Given the description of an element on the screen output the (x, y) to click on. 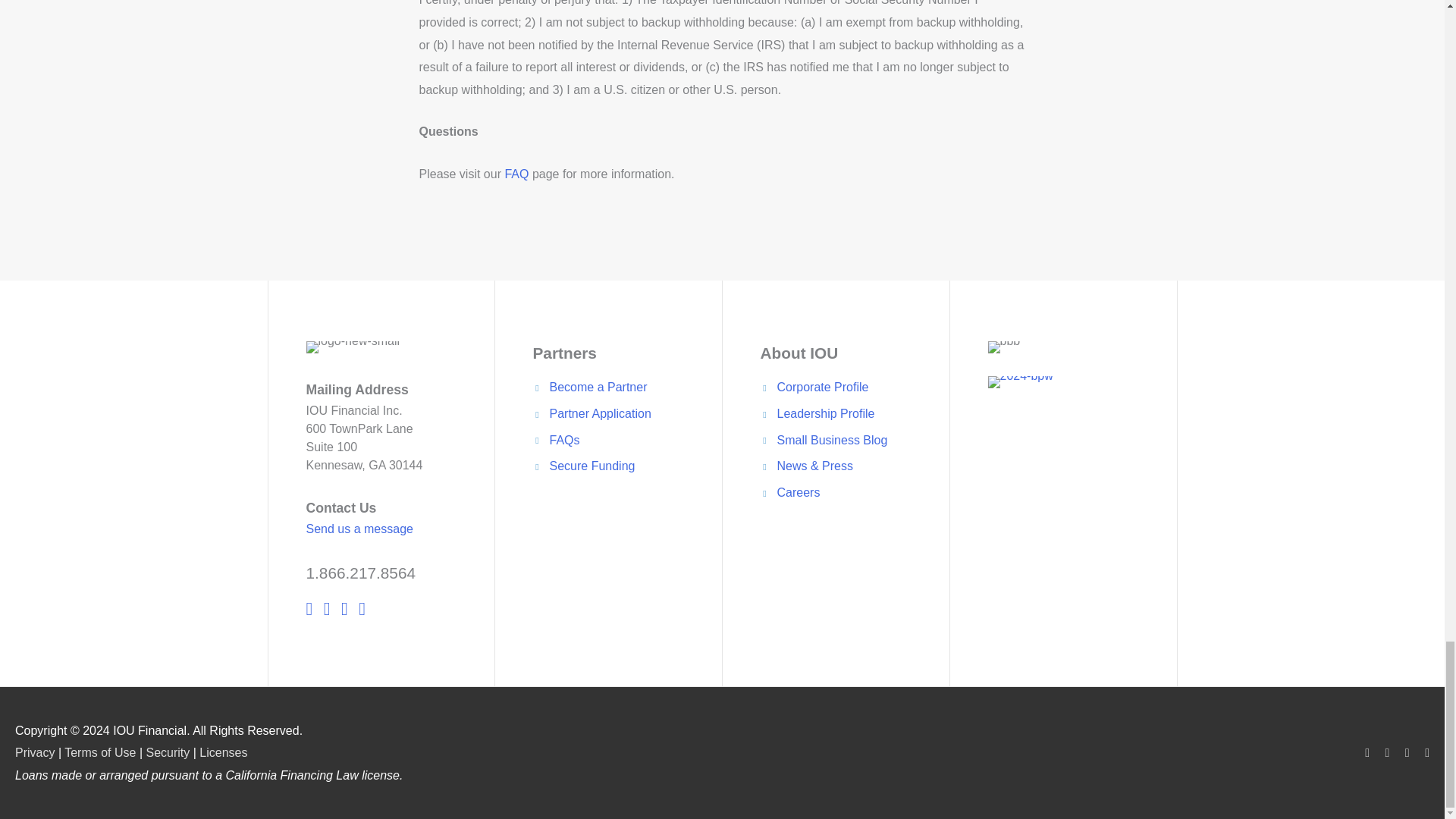
Small Business Blog (831, 440)
FAQ (515, 173)
Partner Application (599, 413)
Corporate Profile (821, 386)
FAQs (563, 440)
Secure Funding (591, 465)
Terms of Use (99, 752)
Become a Partner (597, 386)
Send us a message (359, 528)
Leadership Profile (825, 413)
Licenses (223, 752)
logo-new-small (352, 350)
bbb (1003, 346)
Privacy (34, 752)
2024-bpw (1019, 381)
